Given the description of an element on the screen output the (x, y) to click on. 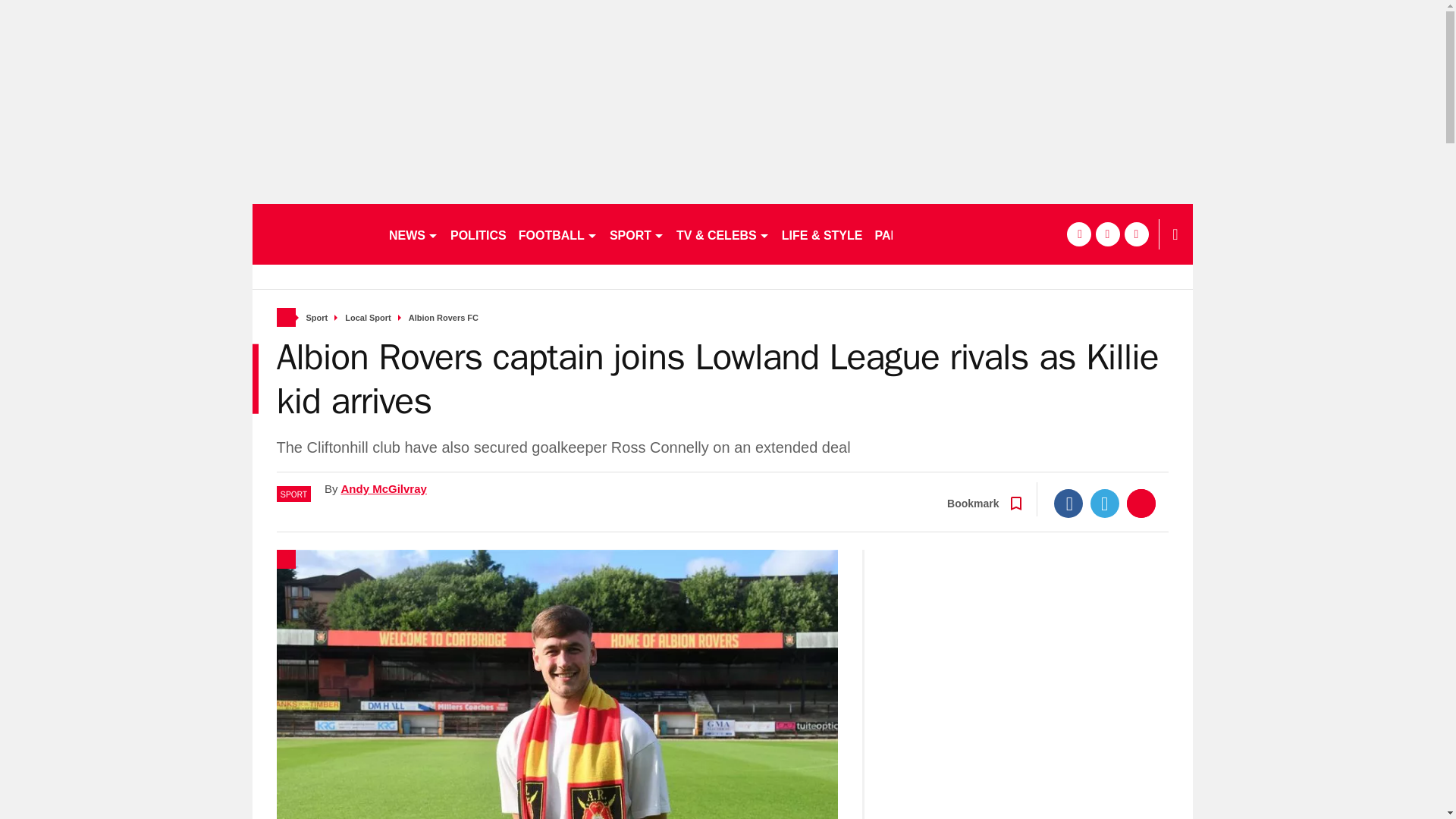
SPORT (636, 233)
instagram (1136, 233)
twitter (1106, 233)
facebook (1077, 233)
dailyrecord (313, 233)
Twitter (1104, 502)
FOOTBALL (558, 233)
NEWS (413, 233)
POLITICS (478, 233)
Facebook (1068, 502)
